Given the description of an element on the screen output the (x, y) to click on. 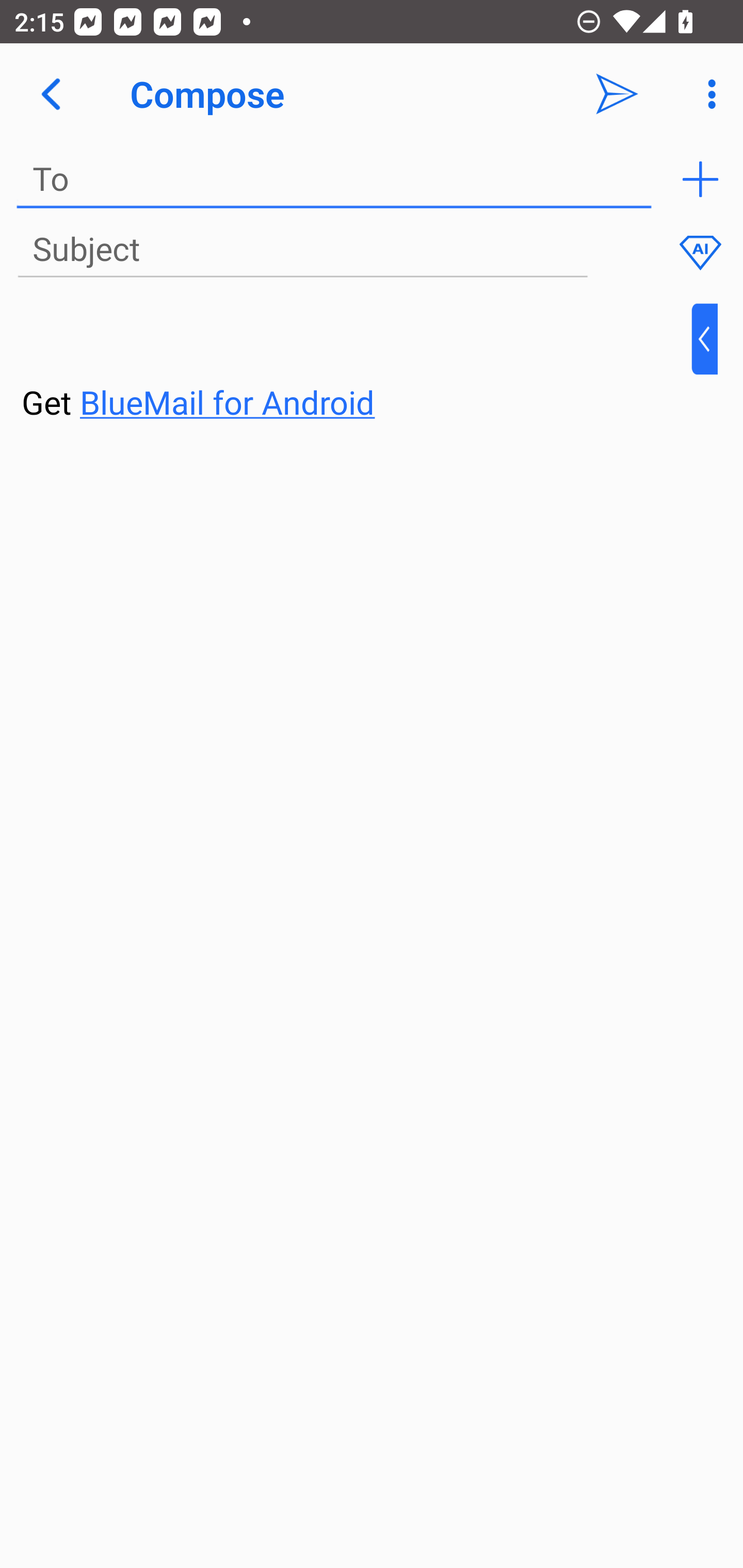
Navigate up (50, 93)
Send (616, 93)
More Options (706, 93)
To (334, 179)
Add recipient (To) (699, 179)
Subject (302, 249)


⁣Get BlueMail for Android ​ (355, 363)
